Given the description of an element on the screen output the (x, y) to click on. 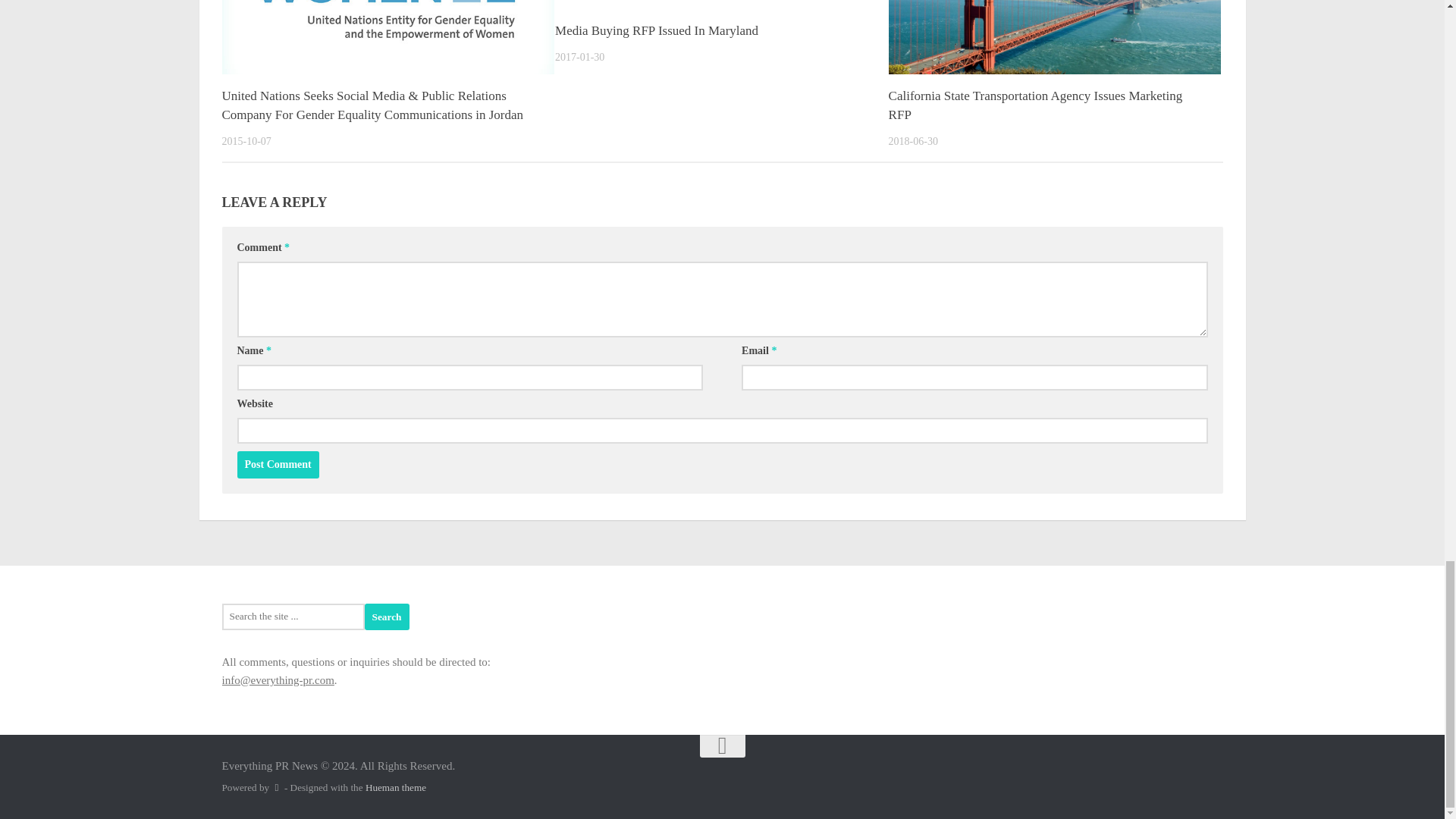
Post Comment (276, 464)
Search (386, 616)
Powered by WordPress (275, 787)
Hueman theme (395, 787)
